Given the description of an element on the screen output the (x, y) to click on. 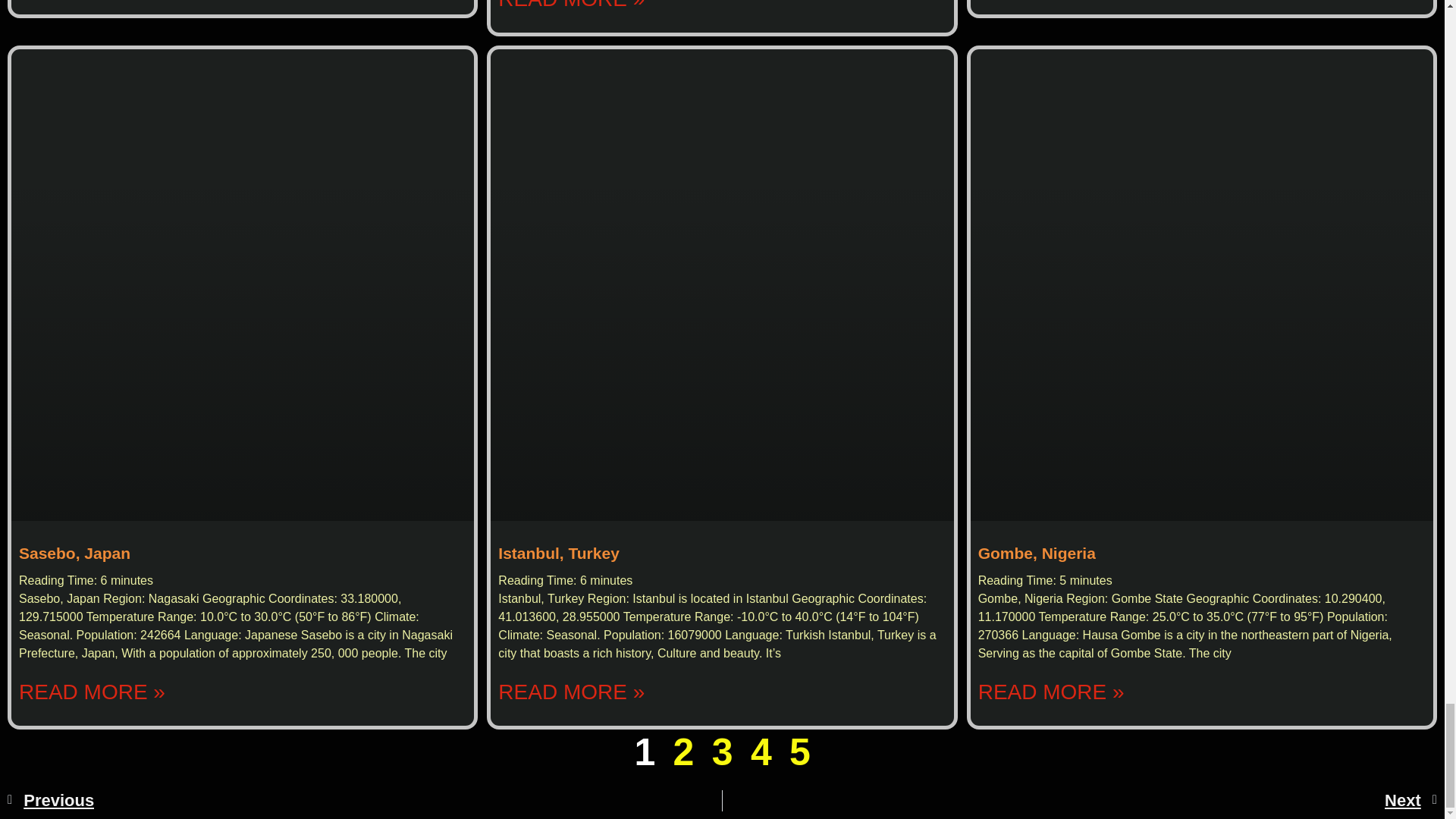
Previous (364, 800)
Istanbul, Turkey (557, 552)
Next (1079, 800)
Gombe, Nigeria (1037, 552)
Sasebo, Japan (74, 552)
